Given the description of an element on the screen output the (x, y) to click on. 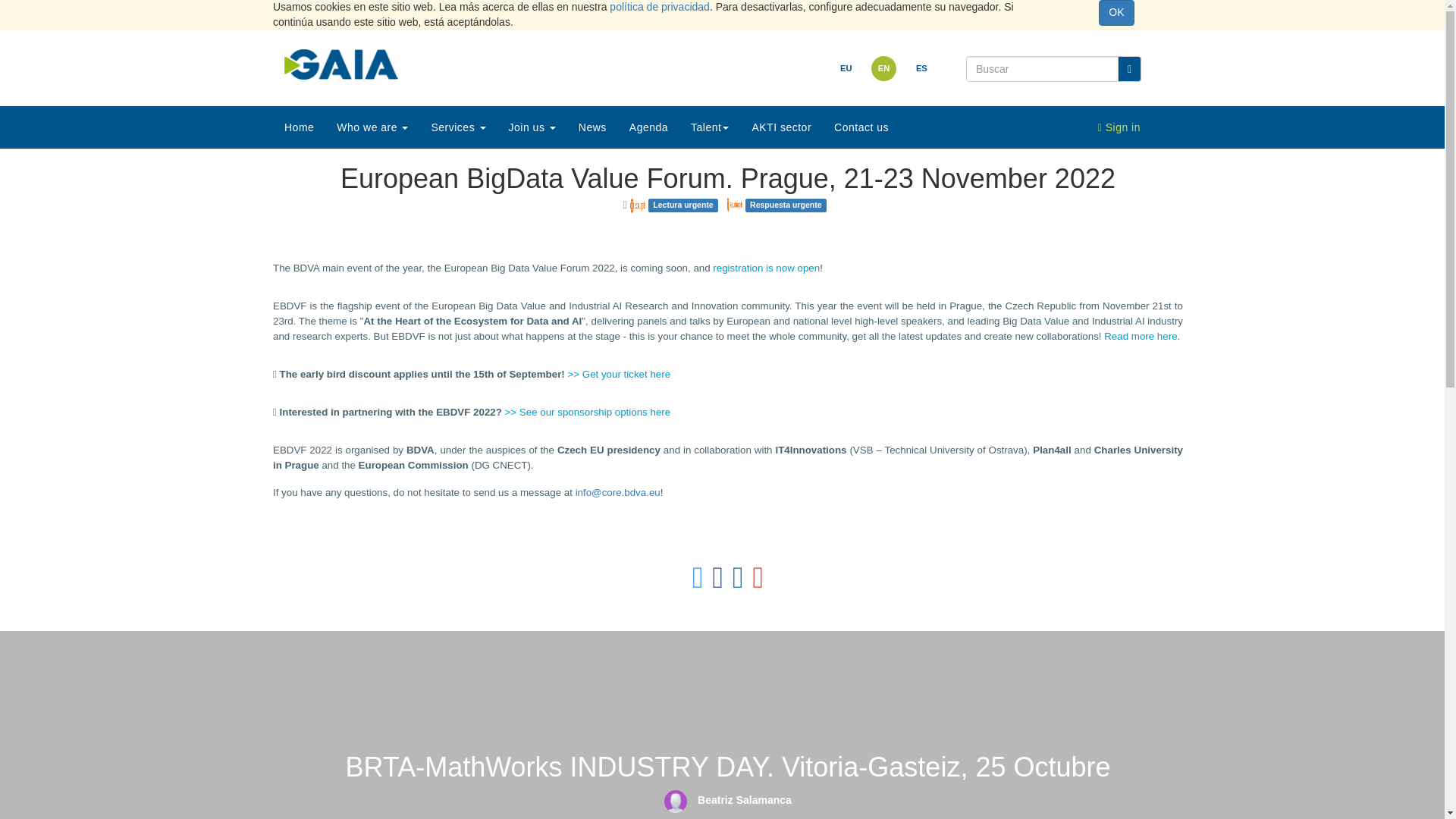
News (592, 127)
AKTI sector (780, 127)
Respuesta urgente (734, 205)
Agenda (648, 127)
Contact us (860, 127)
Join us (532, 127)
Services (457, 127)
Talent (709, 127)
Lectura urgente (637, 205)
Home (298, 127)
